Given the description of an element on the screen output the (x, y) to click on. 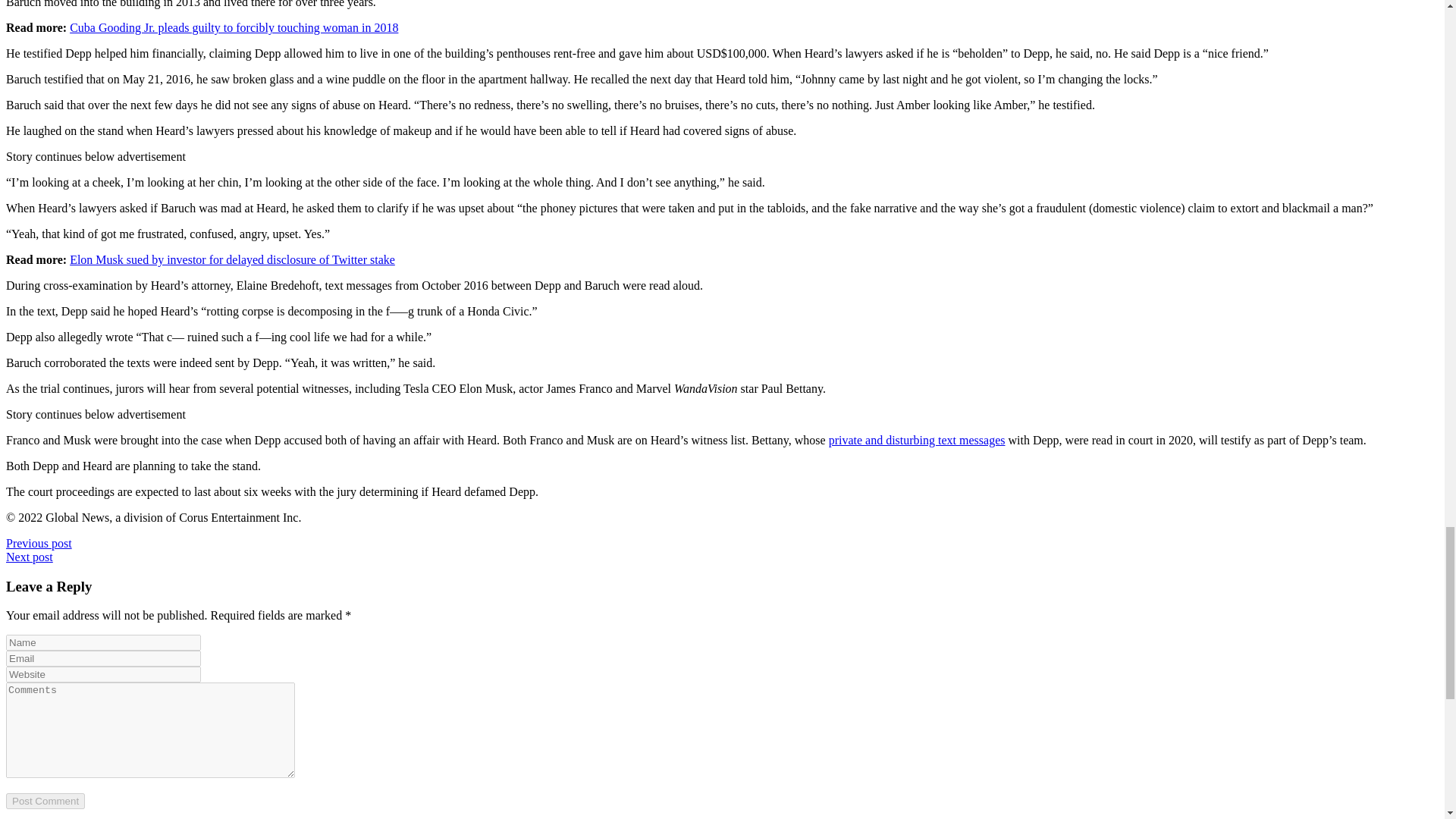
Post Comment (44, 801)
